Given the description of an element on the screen output the (x, y) to click on. 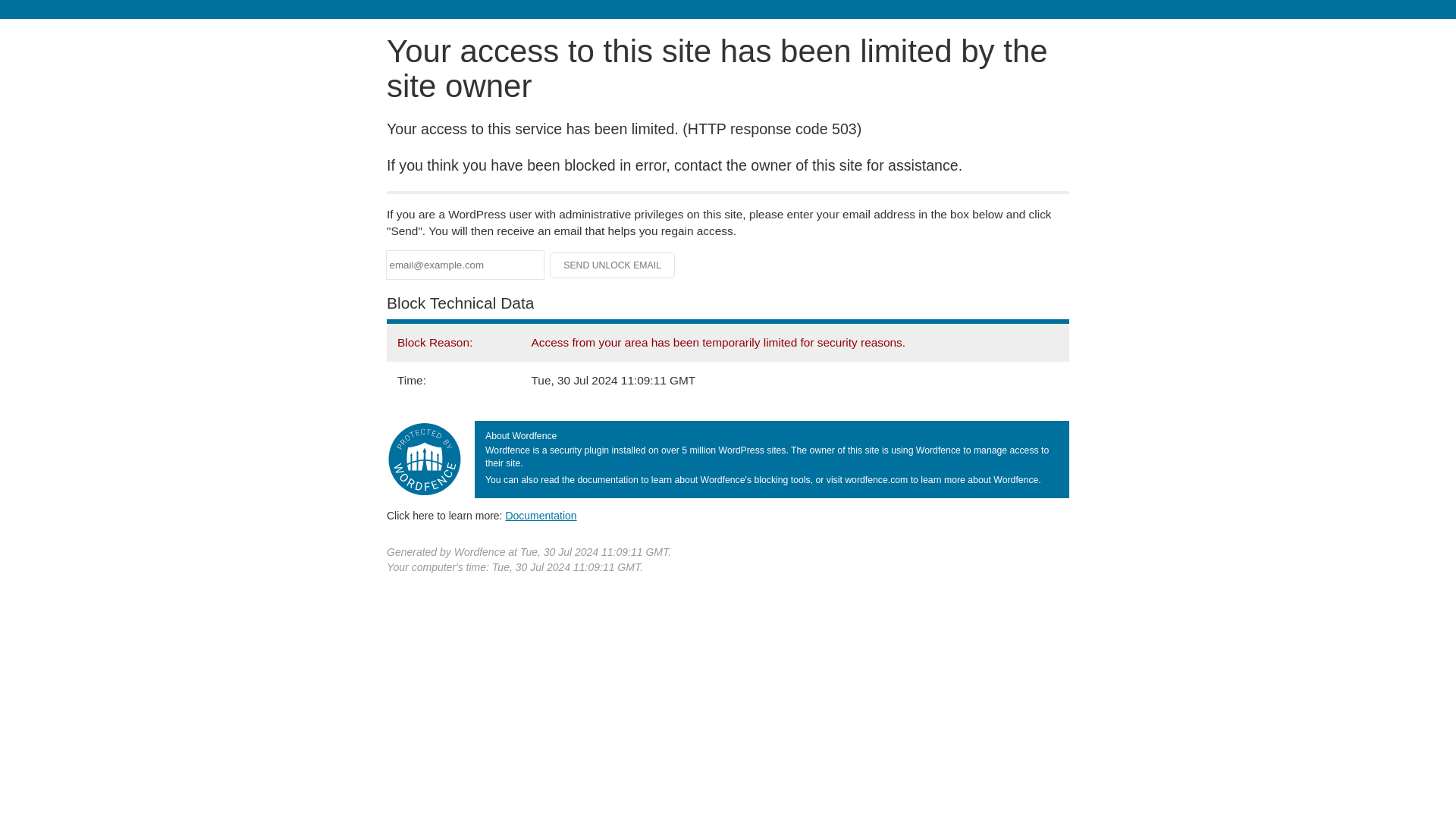
Send Unlock Email (612, 265)
Send Unlock Email (612, 265)
Documentation (540, 515)
